Given the description of an element on the screen output the (x, y) to click on. 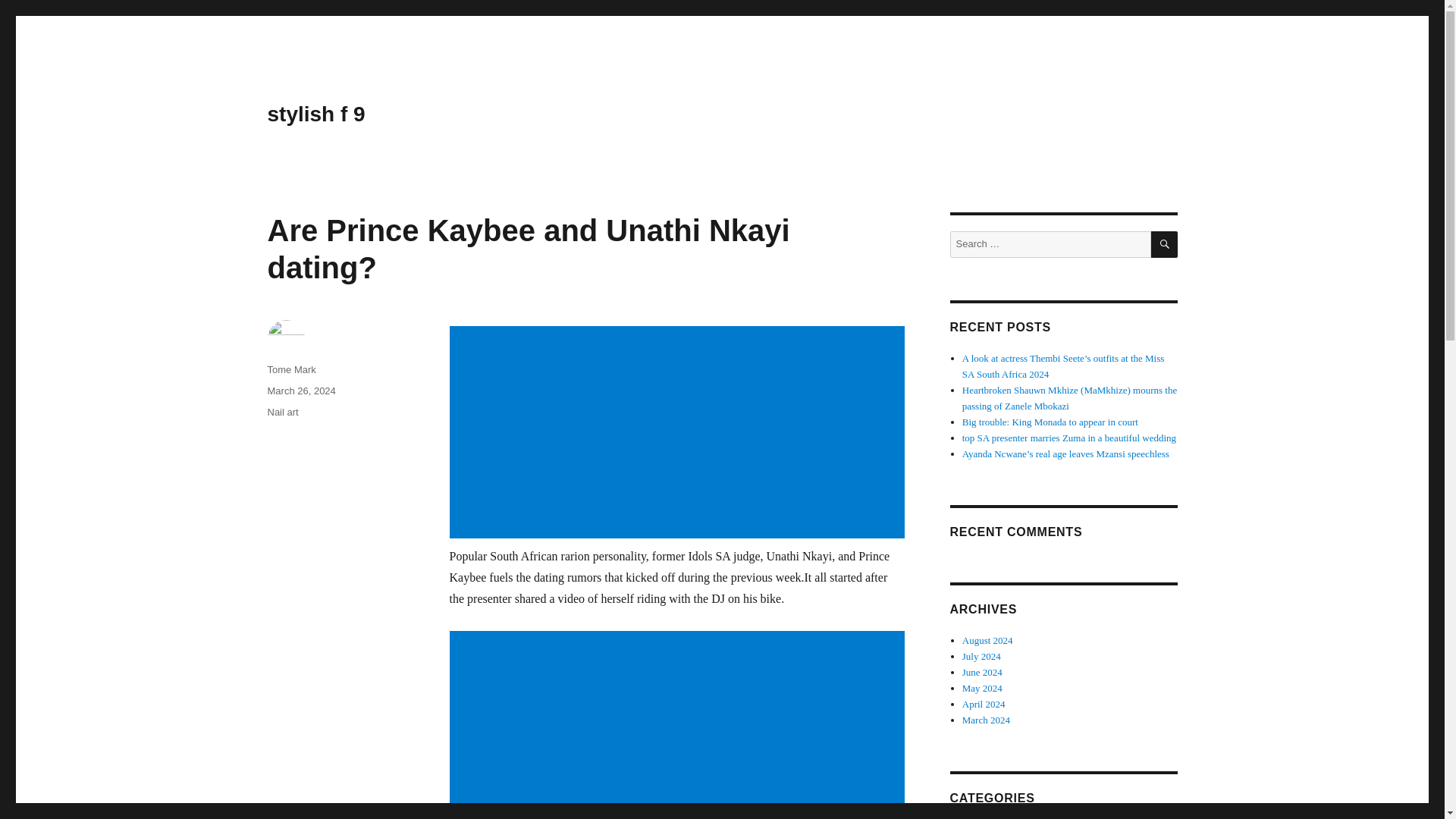
June 2024 (982, 672)
top SA presenter marries Zuma in a beautiful wedding (1069, 437)
Big trouble: King Monada to appear in court (1050, 421)
April 2024 (984, 704)
stylish f 9 (315, 114)
Advertisement (679, 725)
Advertisement (679, 433)
March 2024 (986, 719)
SEARCH (1164, 243)
March 26, 2024 (300, 390)
